Given the description of an element on the screen output the (x, y) to click on. 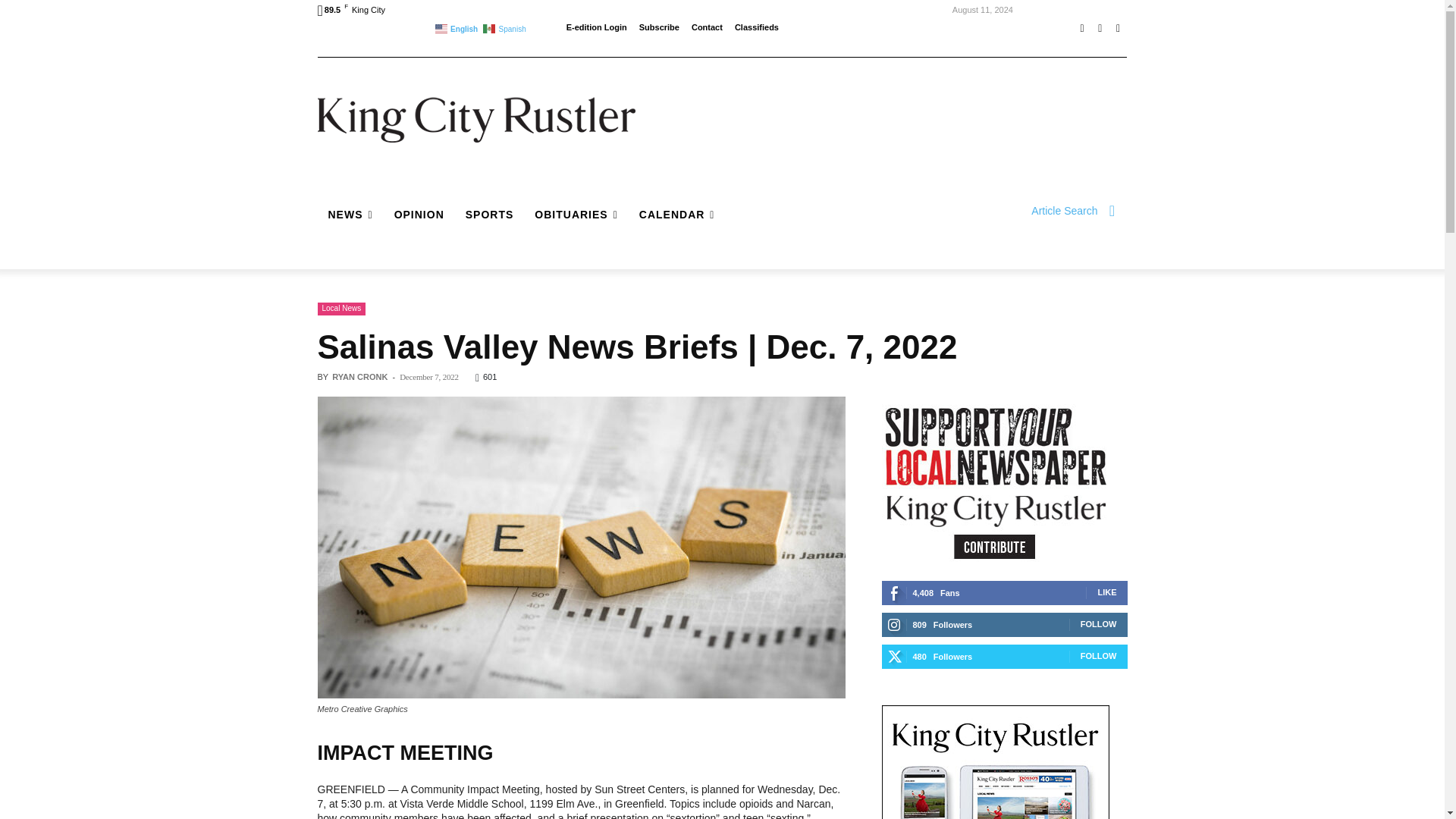
Facebook (1081, 28)
Instagram (1099, 28)
Spanish (505, 27)
Subscribe (659, 27)
Twitter (1117, 28)
English (457, 27)
NEWS (349, 214)
E-edition Login (596, 27)
Classifieds (756, 27)
